Given the description of an element on the screen output the (x, y) to click on. 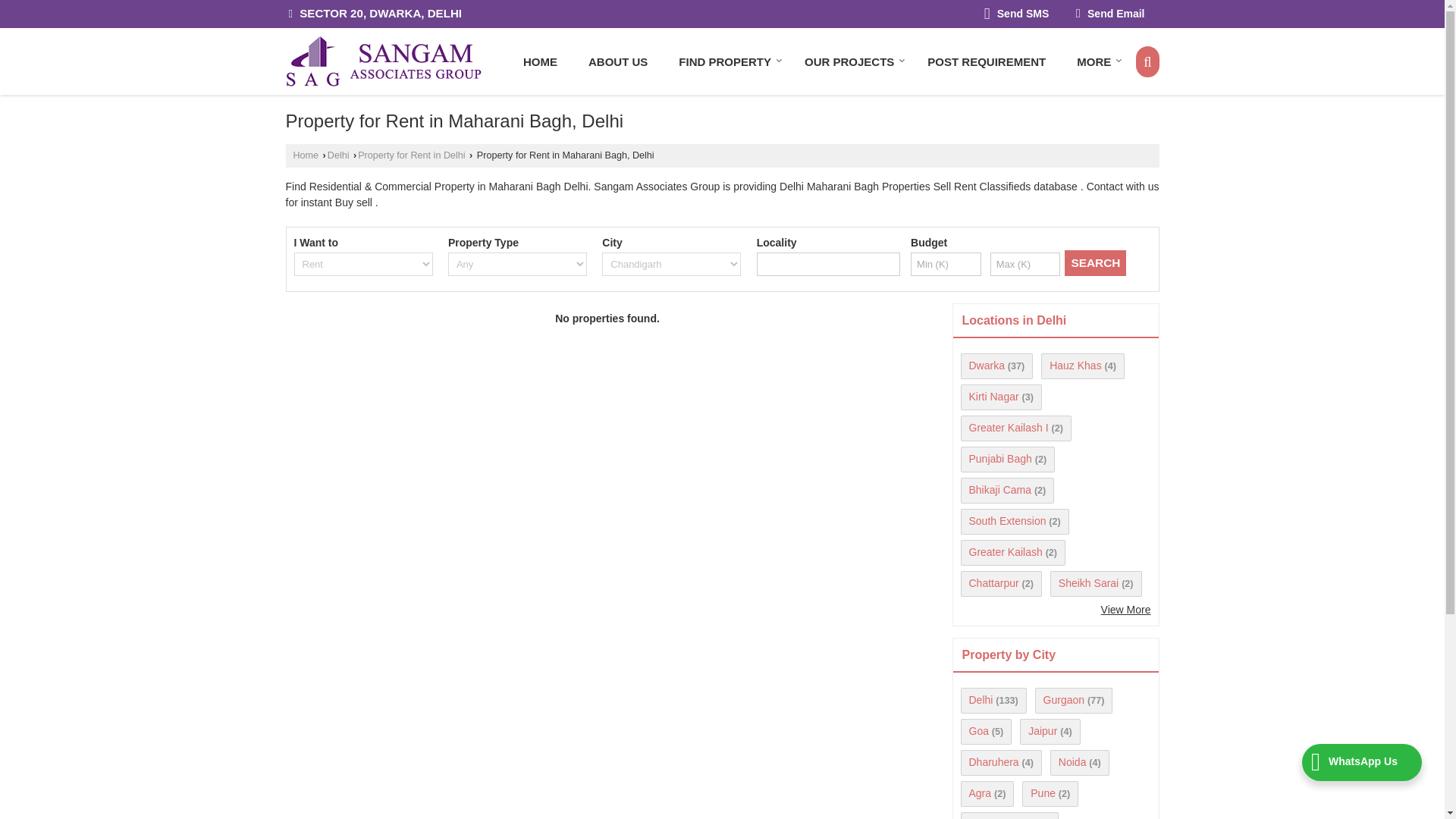
FIND PROPERTY (726, 60)
Home (540, 60)
SEARCH (1094, 263)
Sangam Associates Group (382, 61)
Send Email (1110, 14)
Find Property (726, 60)
HOME (540, 60)
About Us (617, 60)
ABOUT US (617, 60)
Send SMS (1015, 14)
